Given the description of an element on the screen output the (x, y) to click on. 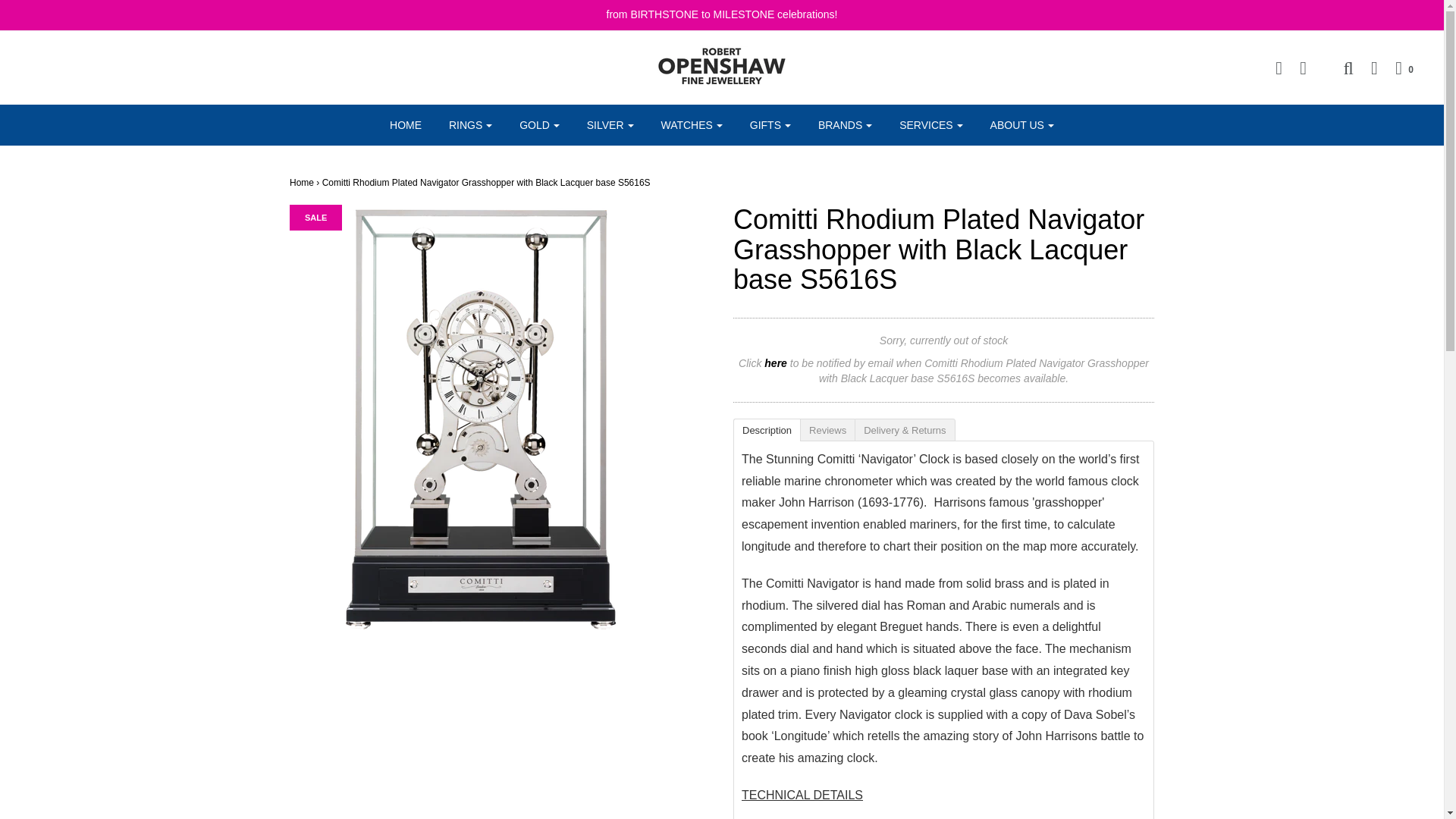
Search (1339, 67)
RINGS (470, 125)
Log in (1366, 67)
HOME (405, 125)
0 (1396, 67)
Your Cart (1396, 67)
GOLD (539, 125)
